Given the description of an element on the screen output the (x, y) to click on. 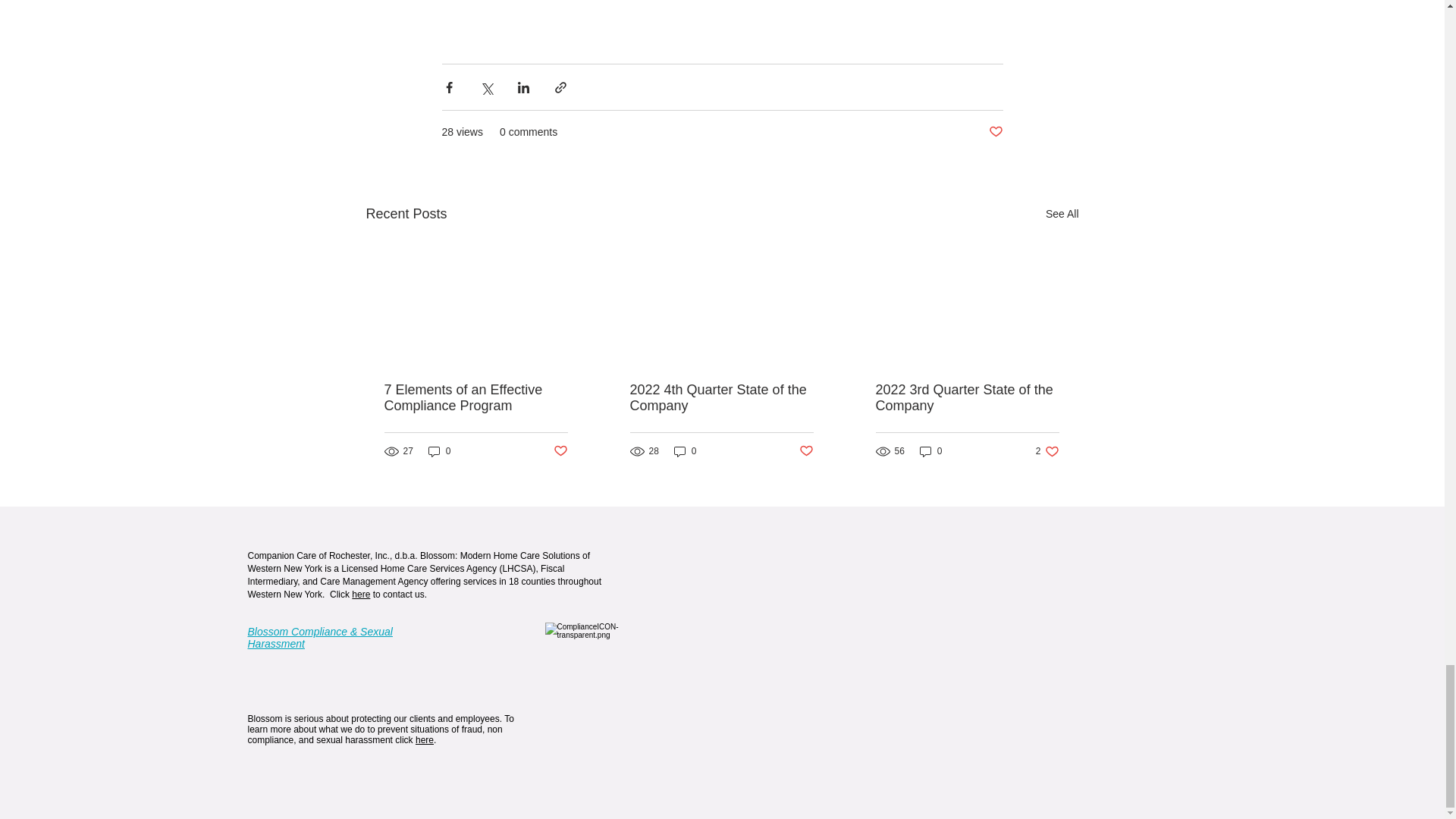
Post not marked as liked (560, 451)
0 (439, 451)
See All (1061, 214)
0 (685, 451)
here (360, 593)
2022 3rd Quarter State of the Company (966, 398)
Post not marked as liked (1047, 451)
Post not marked as liked (995, 132)
2022 4th Quarter State of the Company (806, 451)
7 Elements of an Effective Compliance Program (720, 398)
here (475, 398)
0 (423, 739)
